Given the description of an element on the screen output the (x, y) to click on. 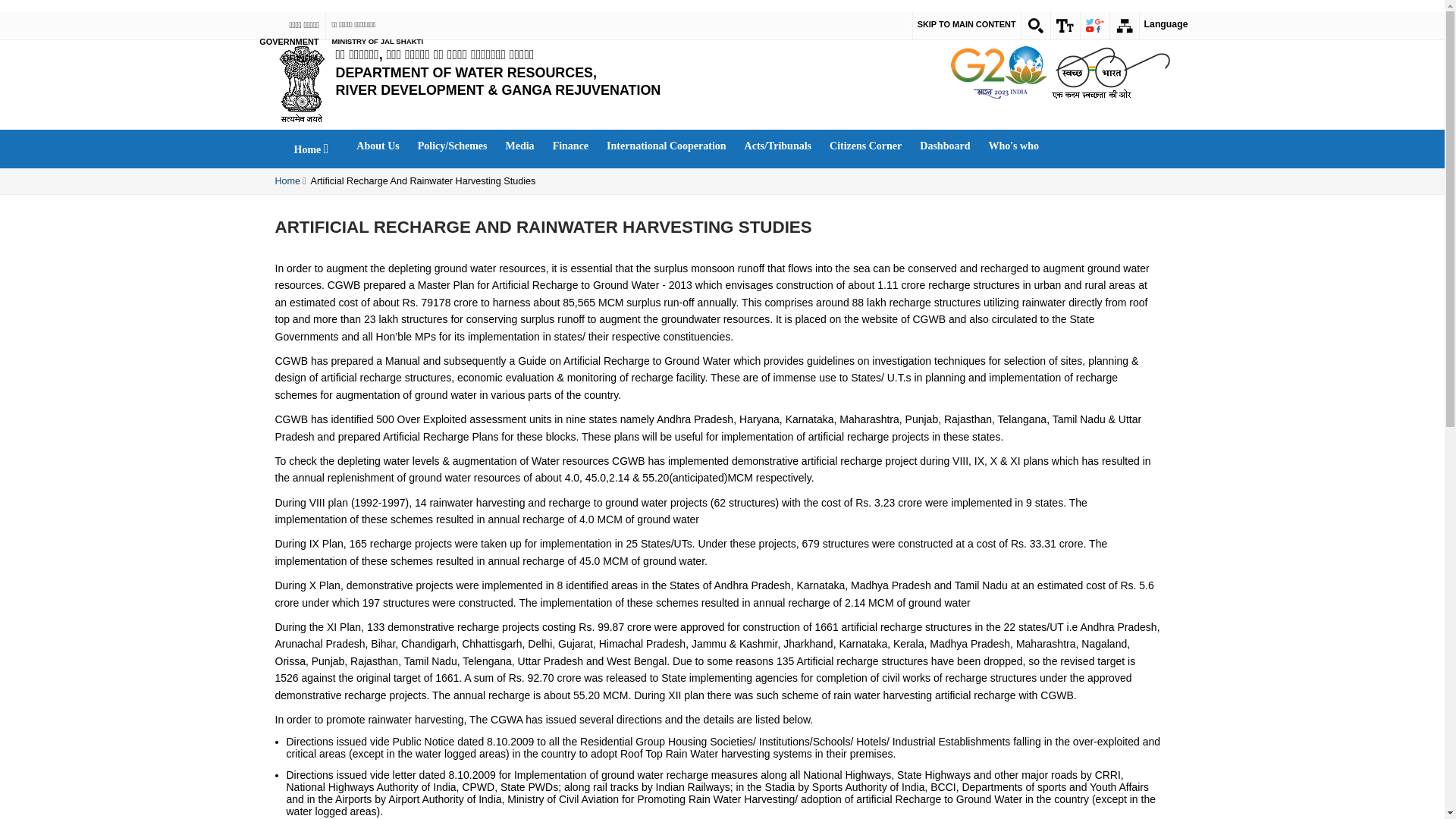
Social Medias (1094, 25)
Home (530, 72)
Site Search (1035, 25)
G20, External Link that opens in a new window (999, 71)
Accessibility Dropdown (1065, 25)
SKIP TO MAIN CONTENT (966, 22)
About Us (377, 145)
Select Language (1166, 25)
Language (1166, 25)
Sitemap (1123, 25)
Home (311, 148)
